Given the description of an element on the screen output the (x, y) to click on. 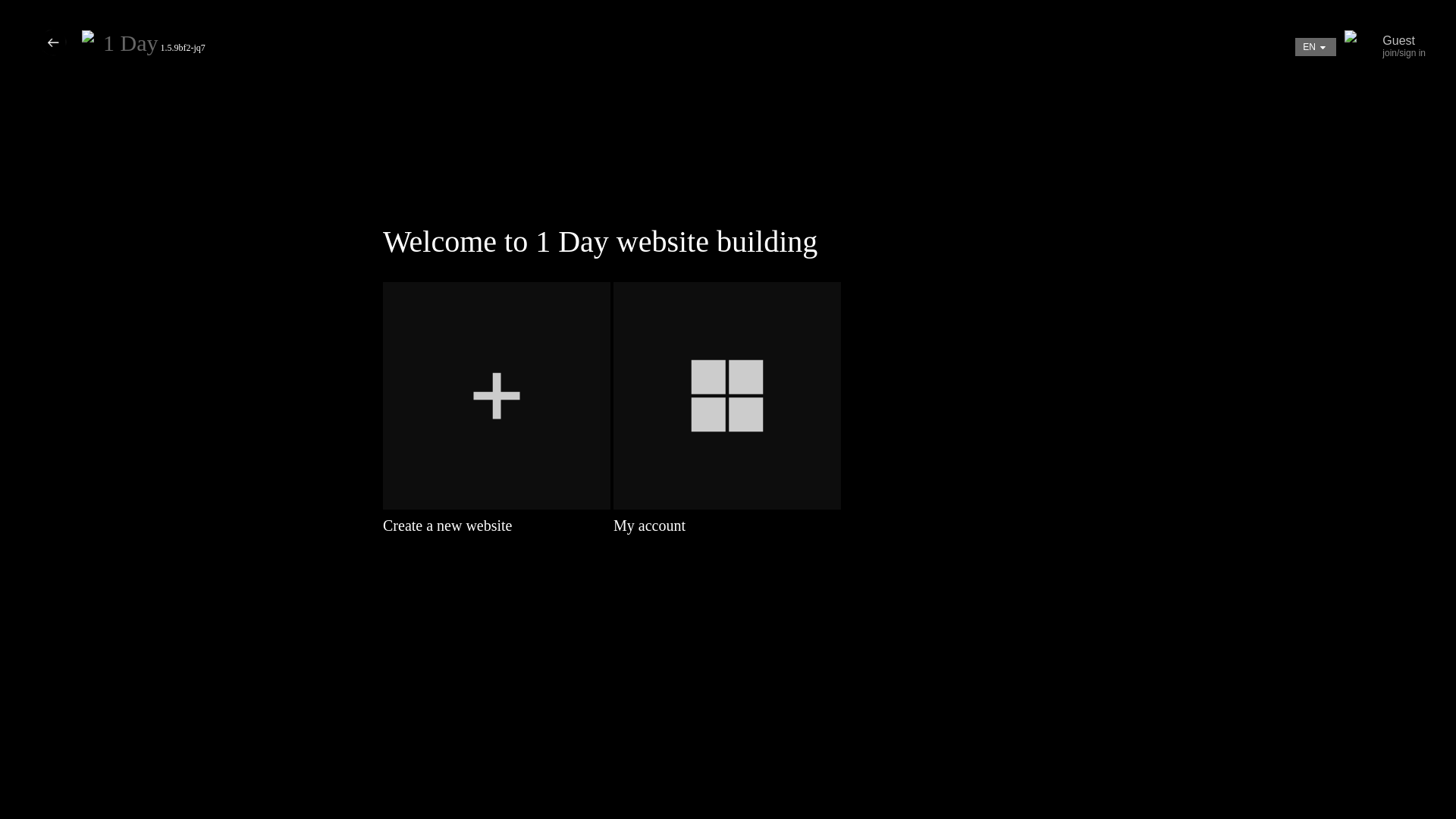
join/sign in Element type: text (1403, 52)
1 Day 1.5.9bf2-jq7 Element type: text (154, 47)
